Given the description of an element on the screen output the (x, y) to click on. 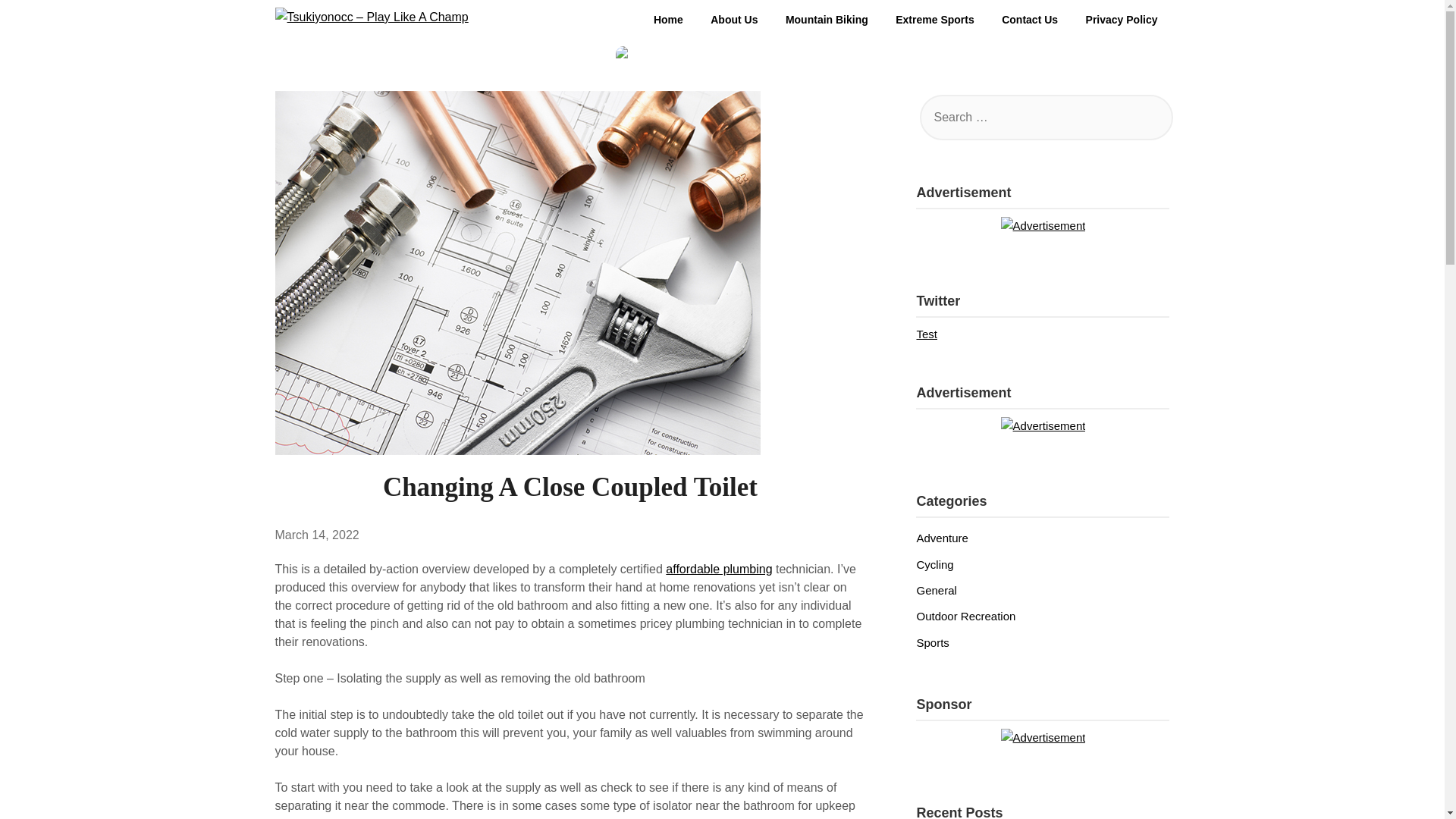
March 14, 2022 (316, 534)
Sports (932, 642)
affordable plumbing (718, 568)
Adventure (941, 537)
Extreme Sports (934, 20)
Outdoor Recreation (964, 615)
Contact Us (1030, 20)
Privacy Policy (1122, 20)
General (935, 590)
About Us (734, 20)
Cycling (934, 563)
Test (926, 333)
Search (38, 22)
Home (668, 20)
Mountain Biking (826, 20)
